Given the description of an element on the screen output the (x, y) to click on. 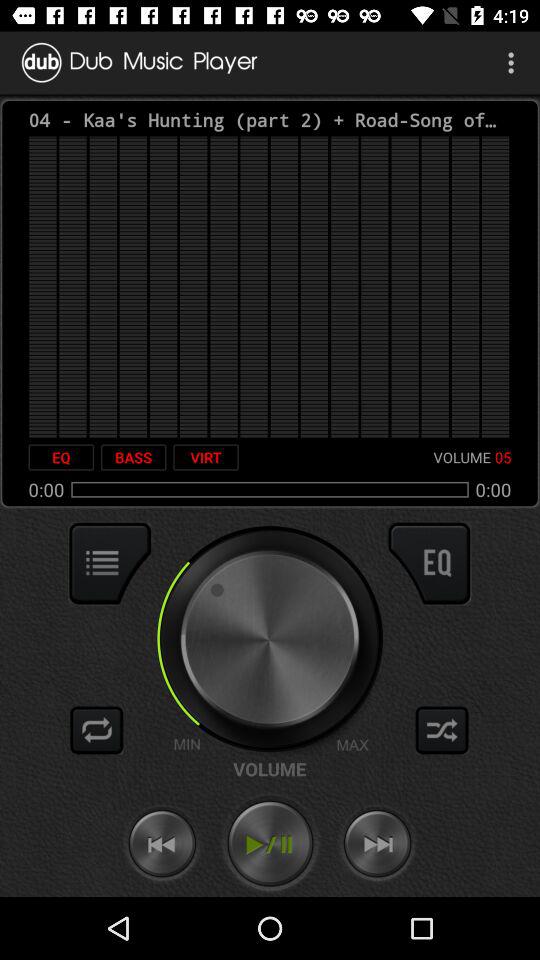
move back (162, 844)
